Given the description of an element on the screen output the (x, y) to click on. 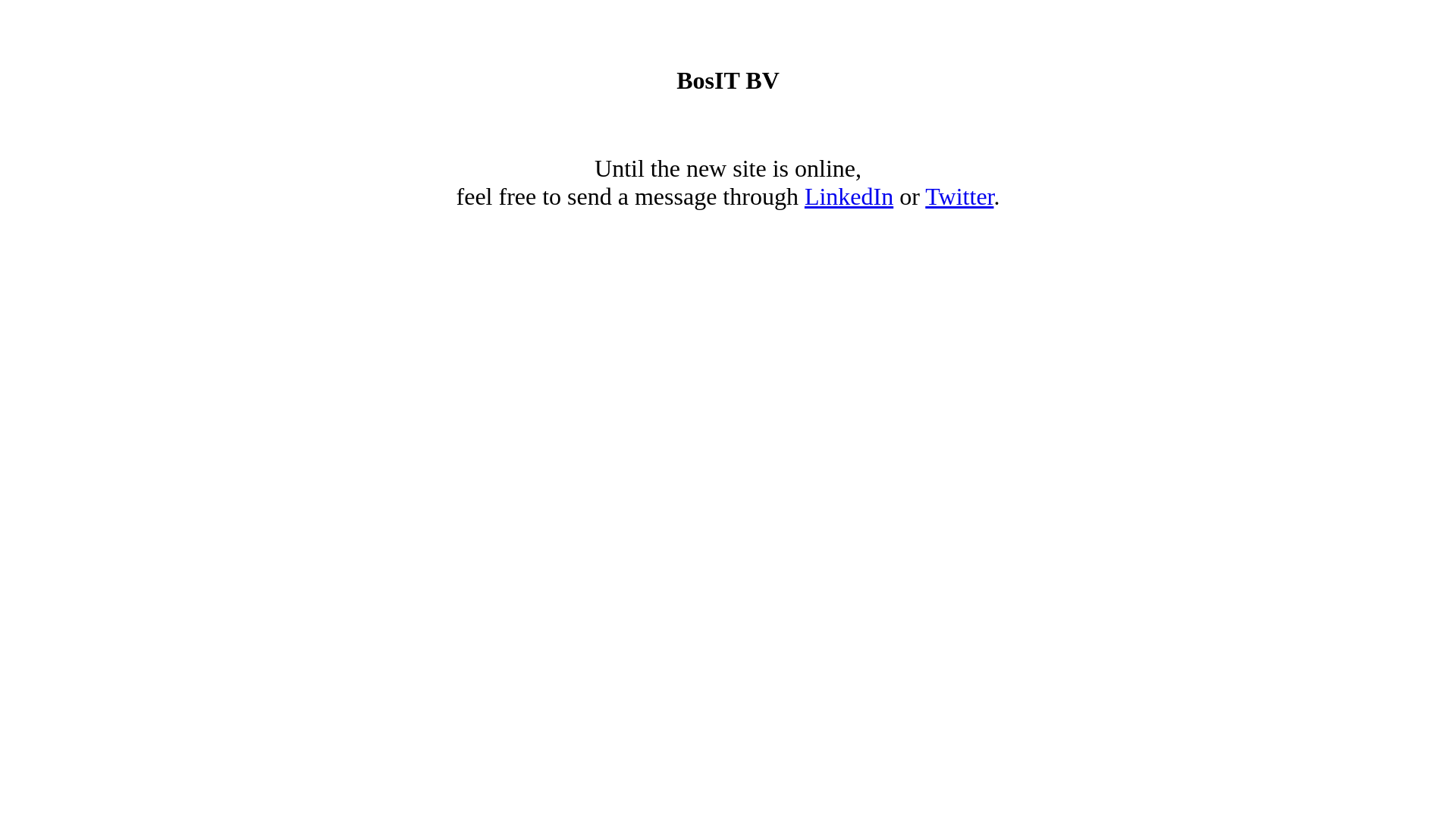
Twitter Element type: text (959, 196)
LinkedIn Element type: text (848, 196)
